Given the description of an element on the screen output the (x, y) to click on. 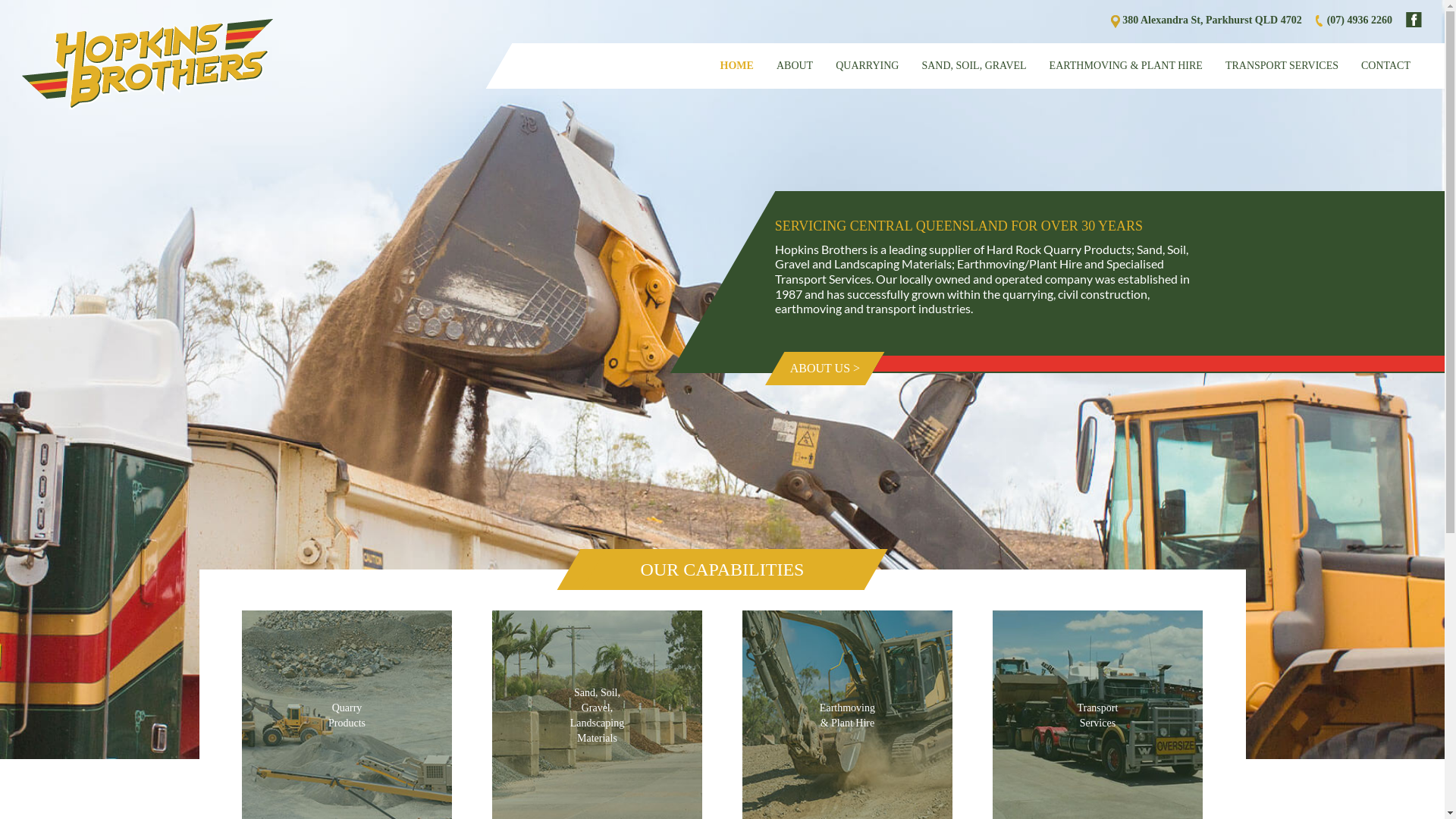
QUARRYING Element type: text (867, 65)
EARTHMOVING & PLANT HIRE Element type: text (1126, 65)
ABOUT Element type: text (794, 65)
380 Alexandra St, Parkhurst QLD 4702 Element type: text (1211, 20)
SAND, SOIL, GRAVEL Element type: text (973, 65)
HOME Element type: text (737, 65)
CONTACT Element type: text (1385, 65)
home-banner-3A Element type: hover (722, 379)
TRANSPORT SERVICES Element type: text (1281, 65)
ABOUT US > Element type: text (815, 368)
(07) 4936 2260 Element type: text (1359, 20)
